Given the description of an element on the screen output the (x, y) to click on. 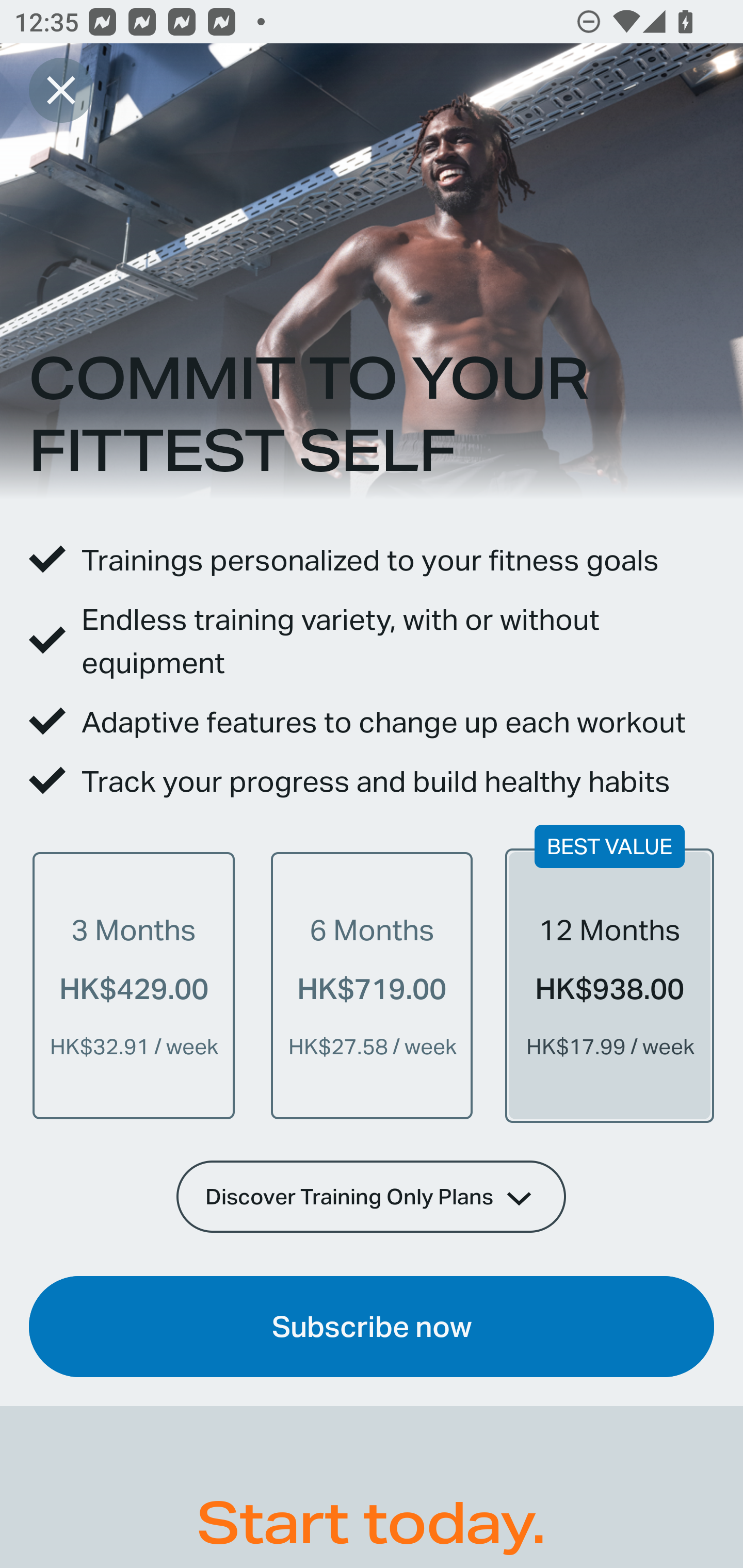
Close (60, 90)
3 Months HK$429.00 HK$32.91 / week (133, 985)
6 Months HK$719.00 HK$27.58 / week (371, 985)
12 Months HK$938.00 HK$17.99 / week (609, 985)
Discover Training Only Plans (371, 1196)
Subscribe now (371, 1326)
